Given the description of an element on the screen output the (x, y) to click on. 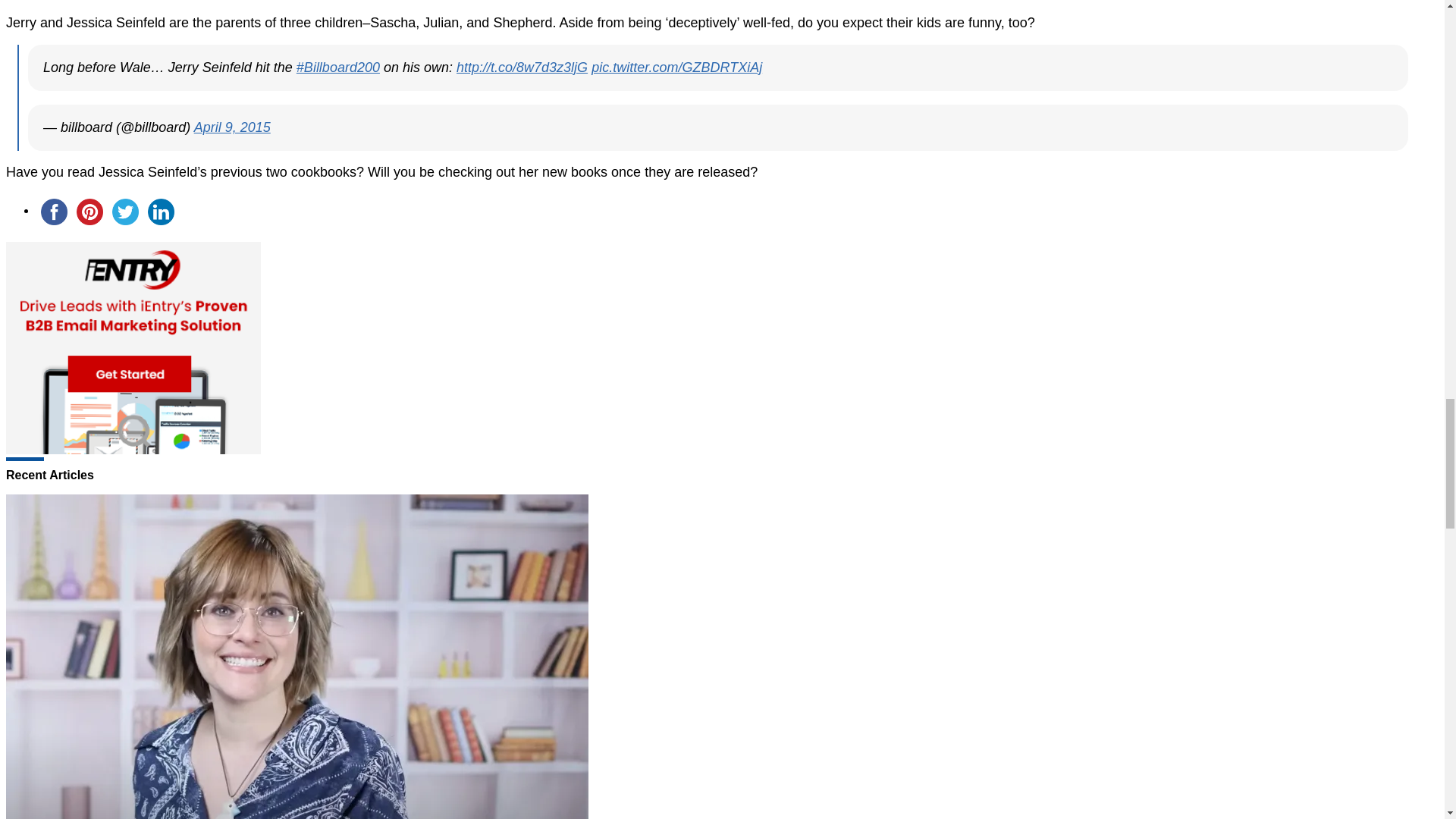
facebook (53, 212)
pinterest (89, 212)
